Given the description of an element on the screen output the (x, y) to click on. 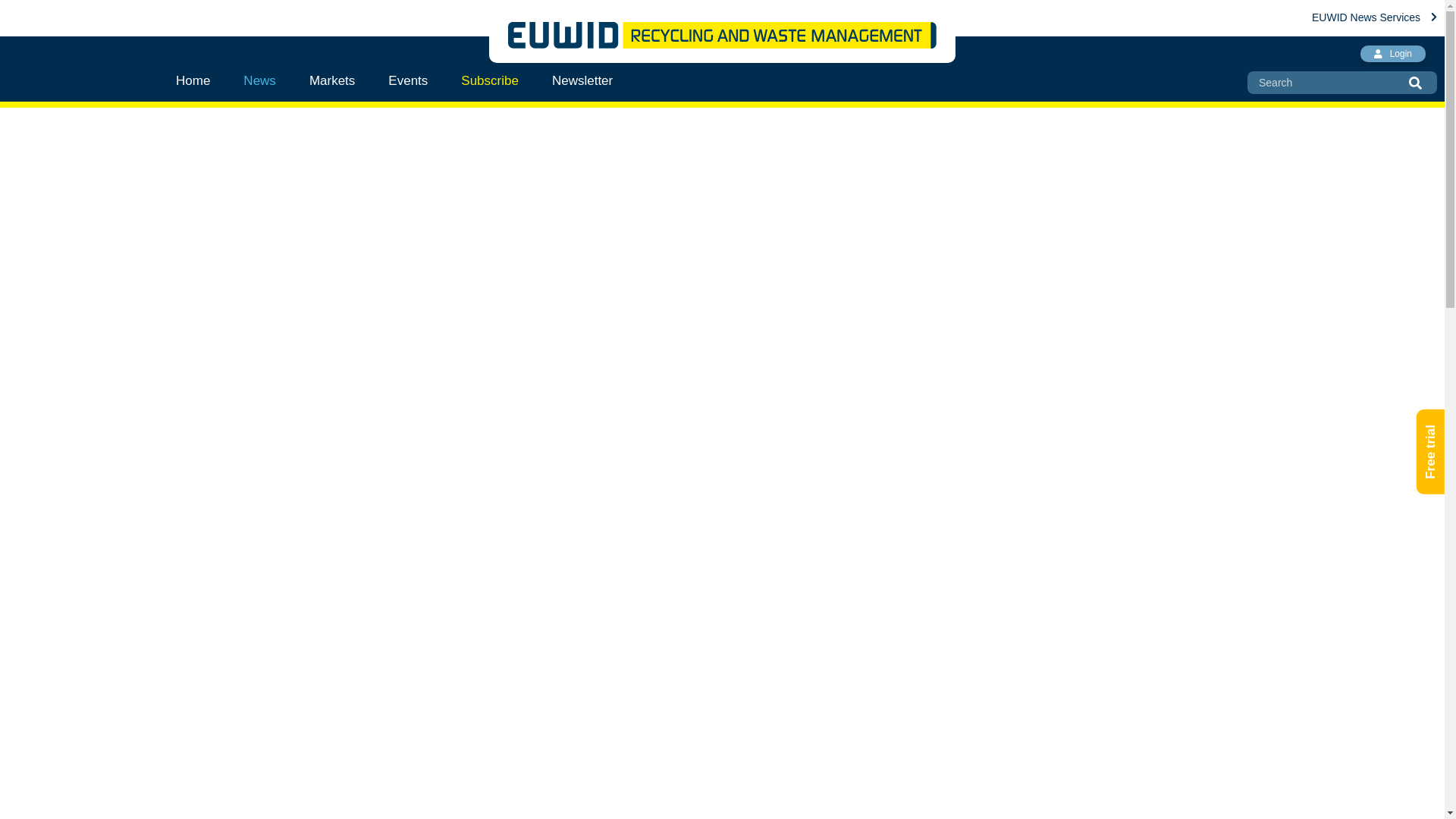
Events (407, 80)
Newsletter (581, 80)
News (259, 80)
Markets (331, 80)
Login (1392, 53)
EUWID News Services (1374, 17)
Subscribe (489, 80)
Home (201, 80)
